Given the description of an element on the screen output the (x, y) to click on. 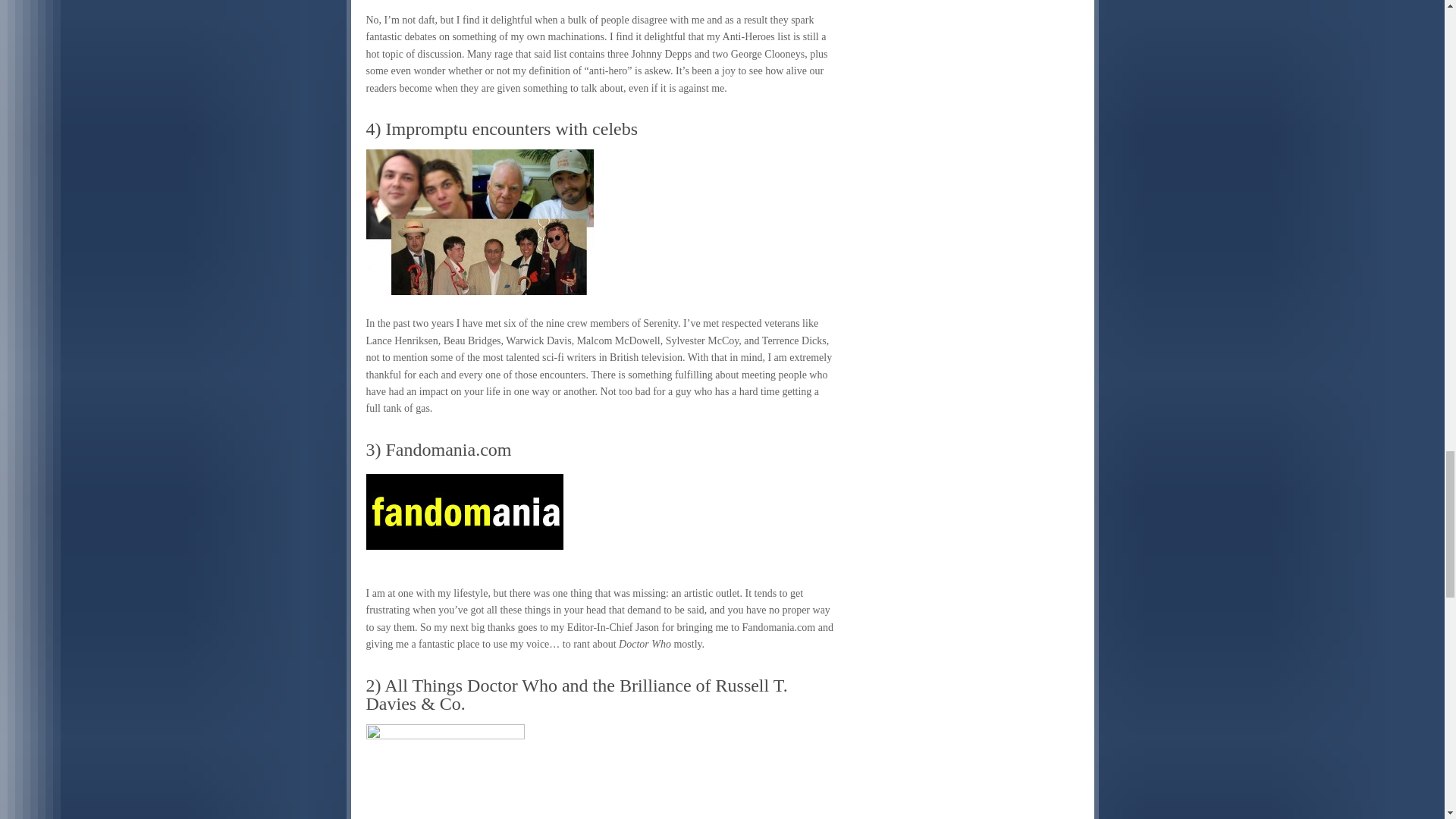
fandomania-logo (463, 511)
